Given the description of an element on the screen output the (x, y) to click on. 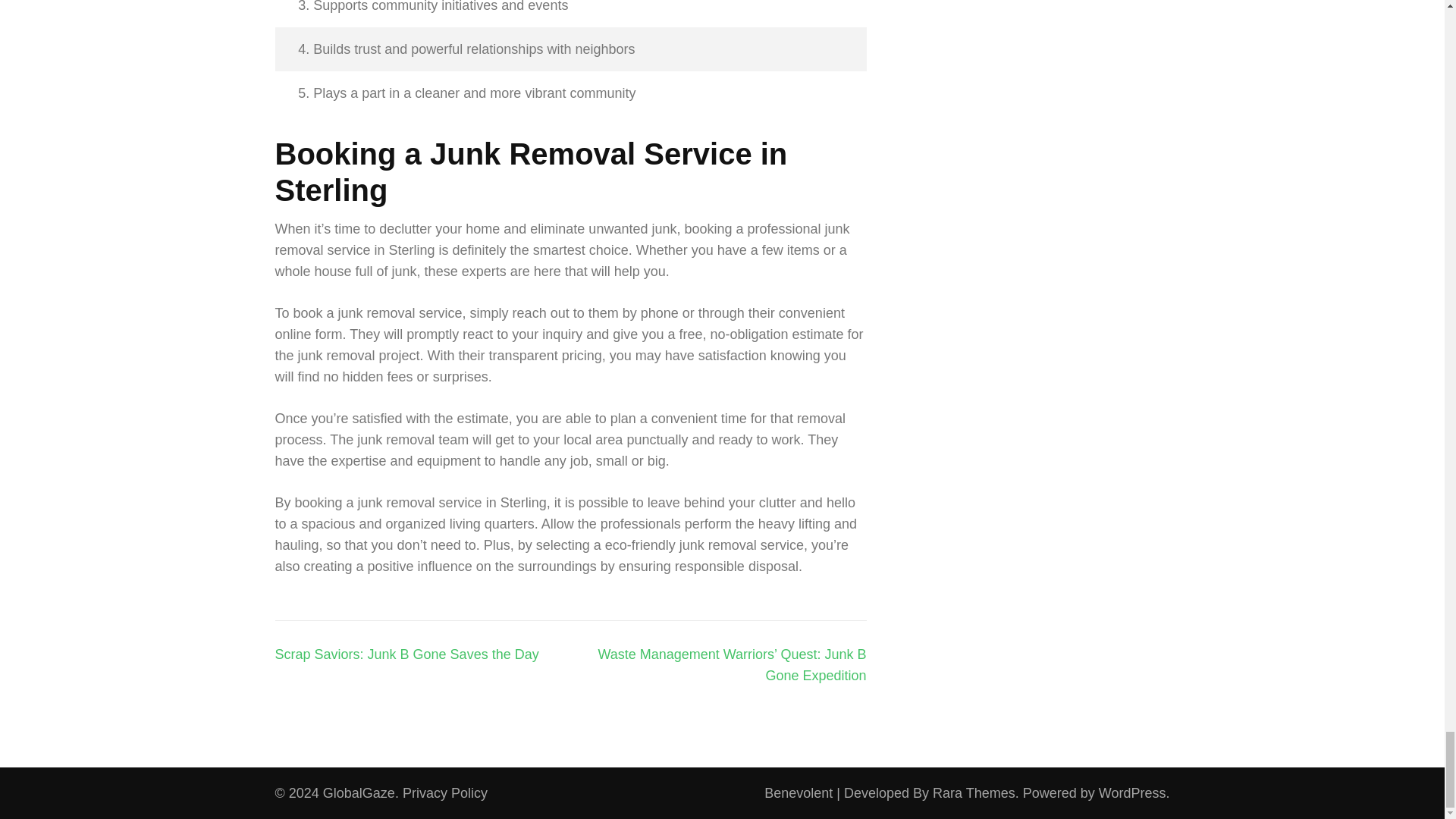
Scrap Saviors: Junk B Gone Saves the Day (406, 654)
